Given the description of an element on the screen output the (x, y) to click on. 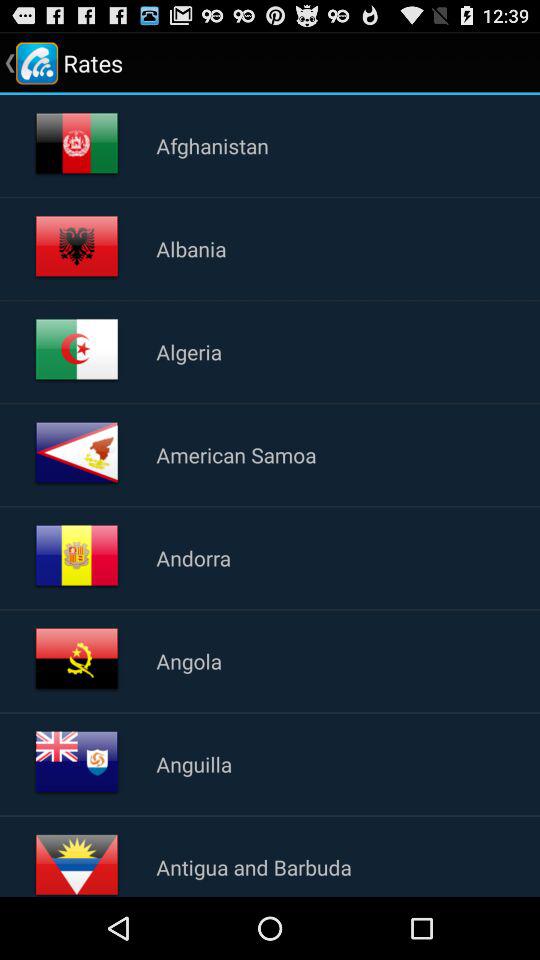
tap the item below american samoa (193, 557)
